Given the description of an element on the screen output the (x, y) to click on. 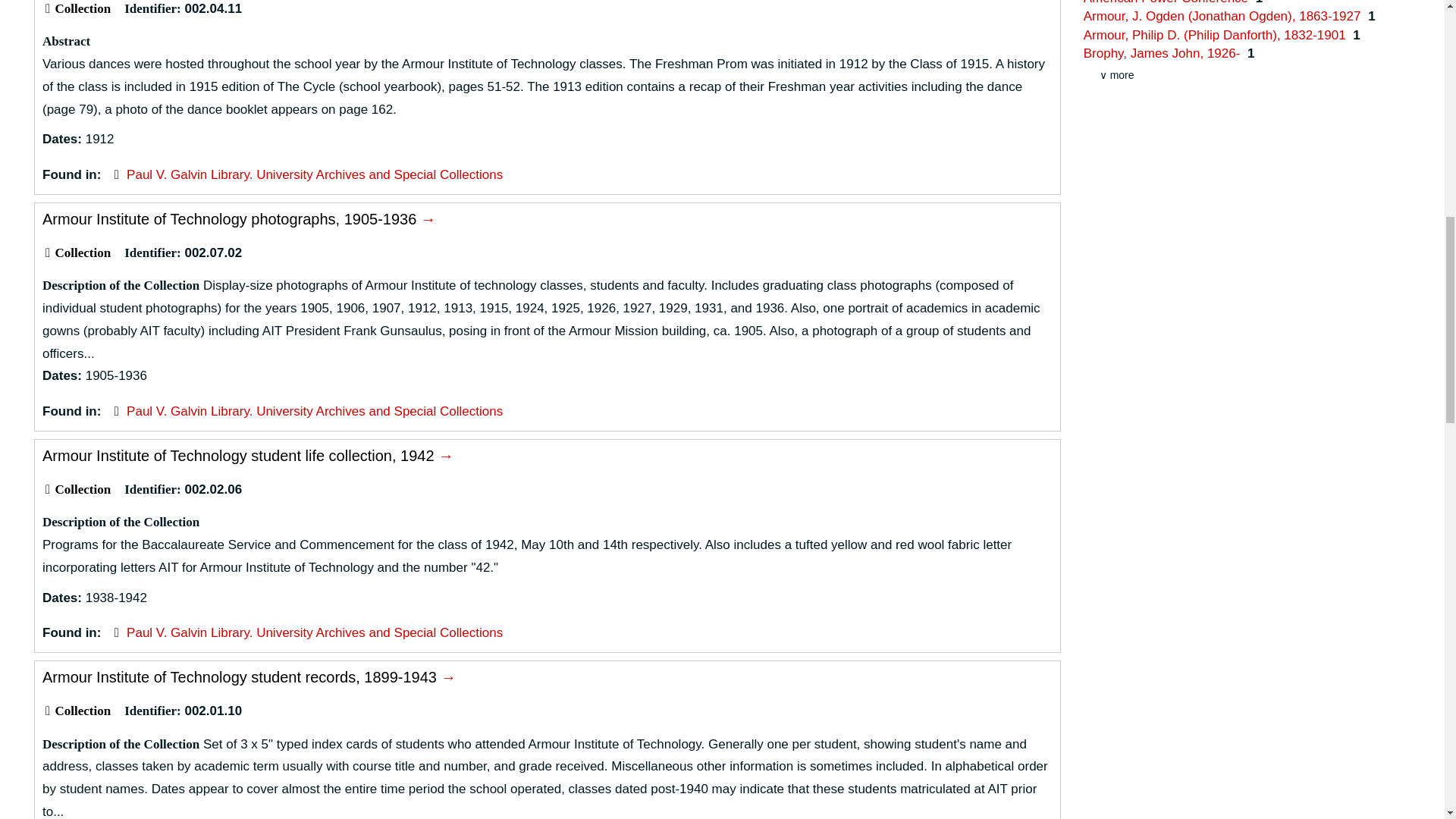
Armour Institute of Technology photographs, 1905-1936 (238, 218)
Armour Institute of Technology student records, 1899-1943 (249, 677)
Armour Institute of Technology student life collection, 1942 (247, 455)
